Given the description of an element on the screen output the (x, y) to click on. 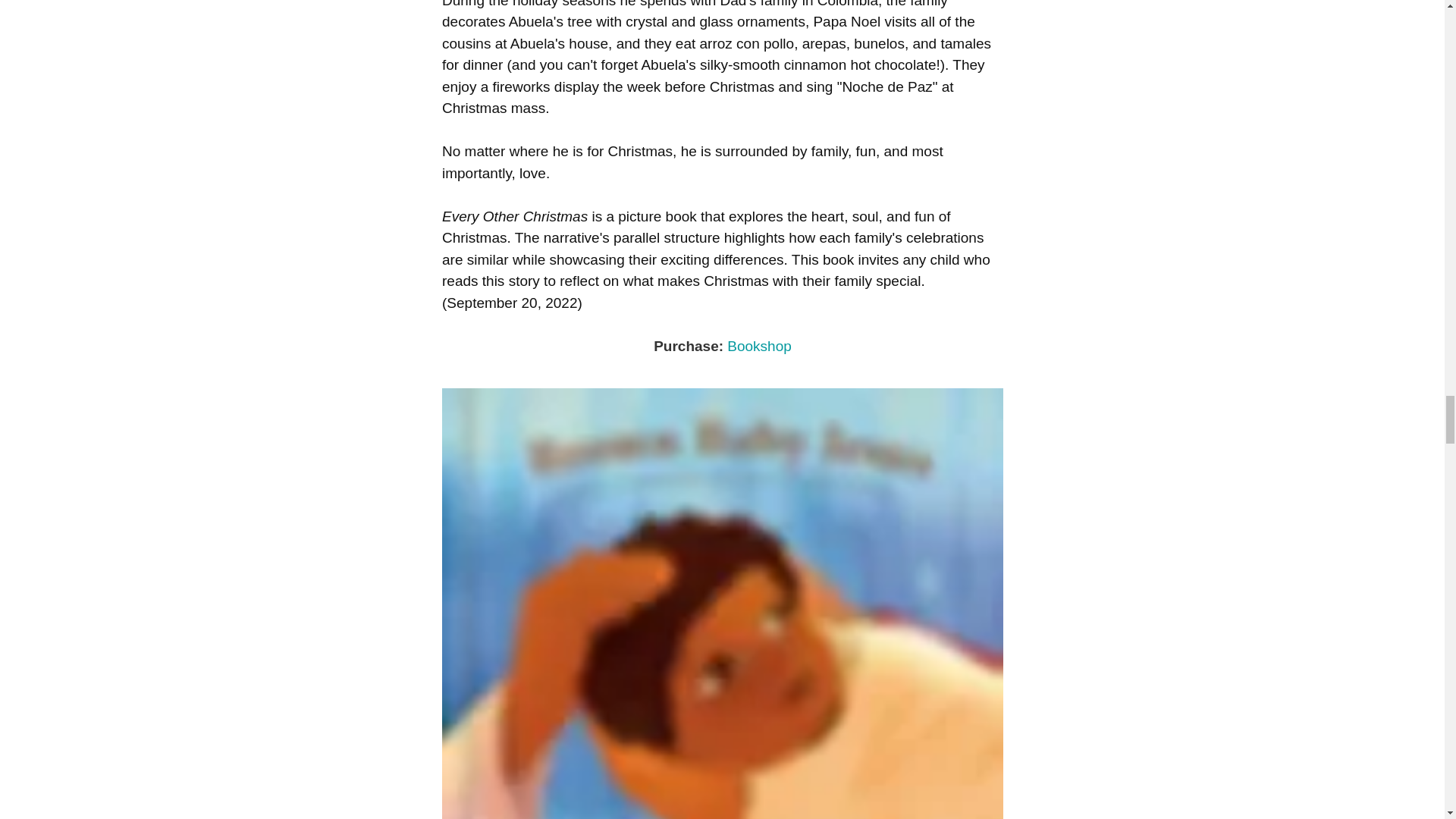
Bookshop (759, 345)
